Given the description of an element on the screen output the (x, y) to click on. 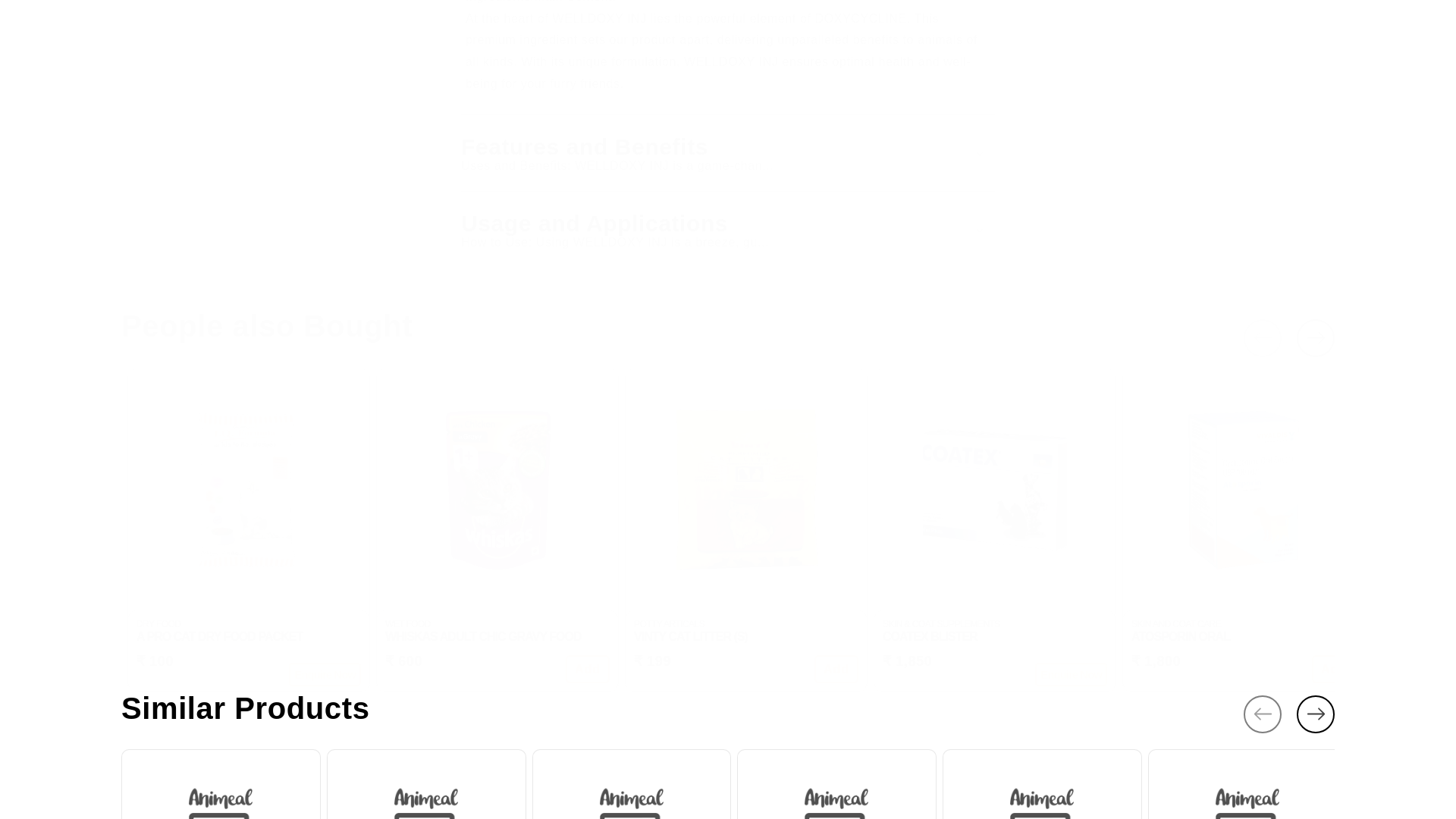
Add (1248, 782)
COATEX BLISTER (588, 669)
A PRO CAT DRY FOOD PACKET (994, 637)
Enquire Now (248, 637)
Enquire Now (1070, 674)
Add (324, 674)
WHISKAS ADULT CHIC GRAVY FOOD (836, 669)
